Given the description of an element on the screen output the (x, y) to click on. 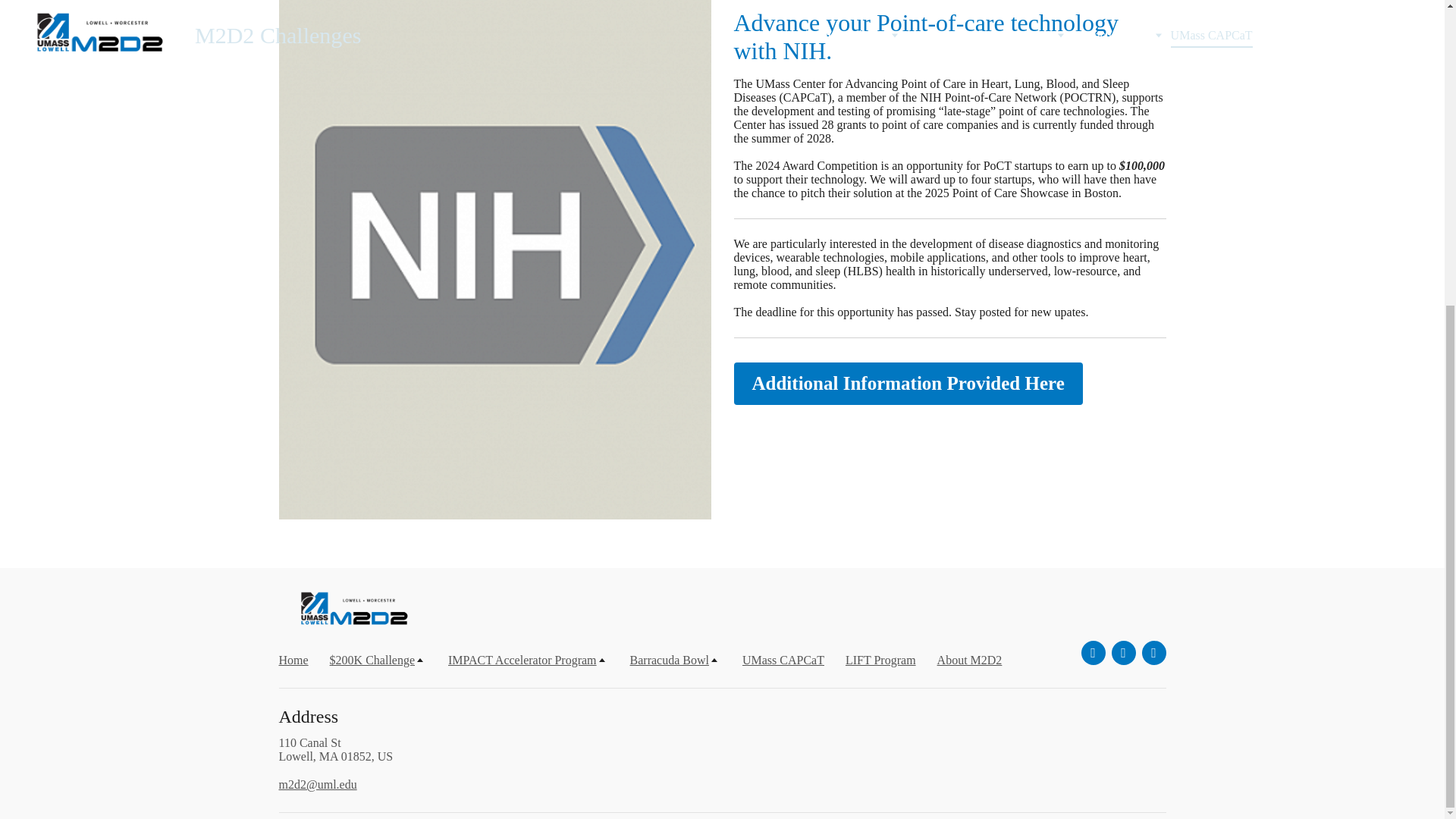
Additional Information Provided Here (908, 383)
LIFT Program (880, 659)
Barracuda Bowl (675, 659)
Home (293, 659)
UMass CAPCaT (783, 659)
IMPACT Accelerator Program (528, 659)
